Given the description of an element on the screen output the (x, y) to click on. 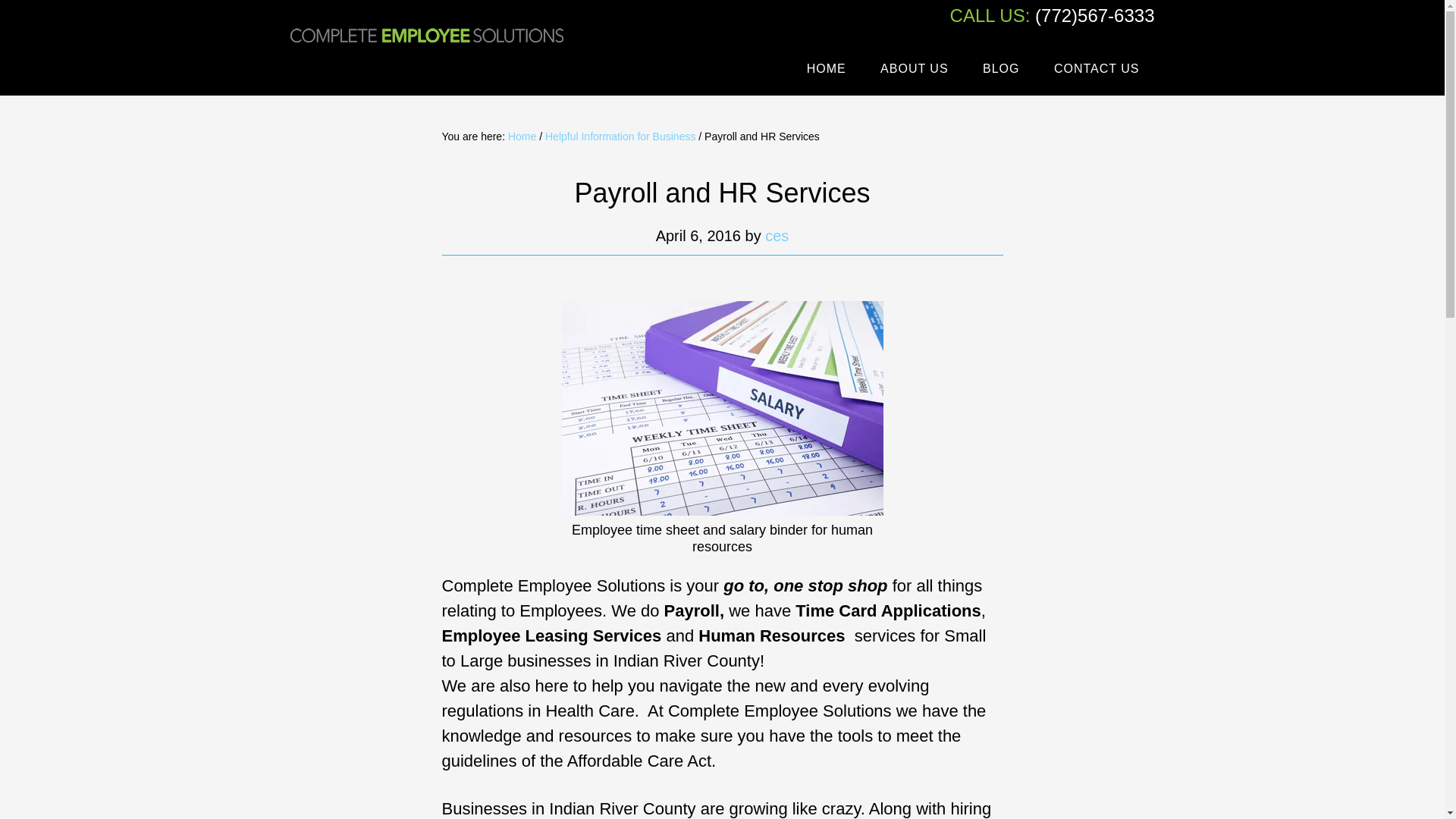
Home (521, 136)
HOME (826, 68)
ces (777, 235)
Helpful Information for Business (619, 136)
COMPLETE EMPLOYEE SOLUTIONS (425, 49)
CONTACT US (1096, 68)
BLOG (1000, 68)
ABOUT US (913, 68)
